Given the description of an element on the screen output the (x, y) to click on. 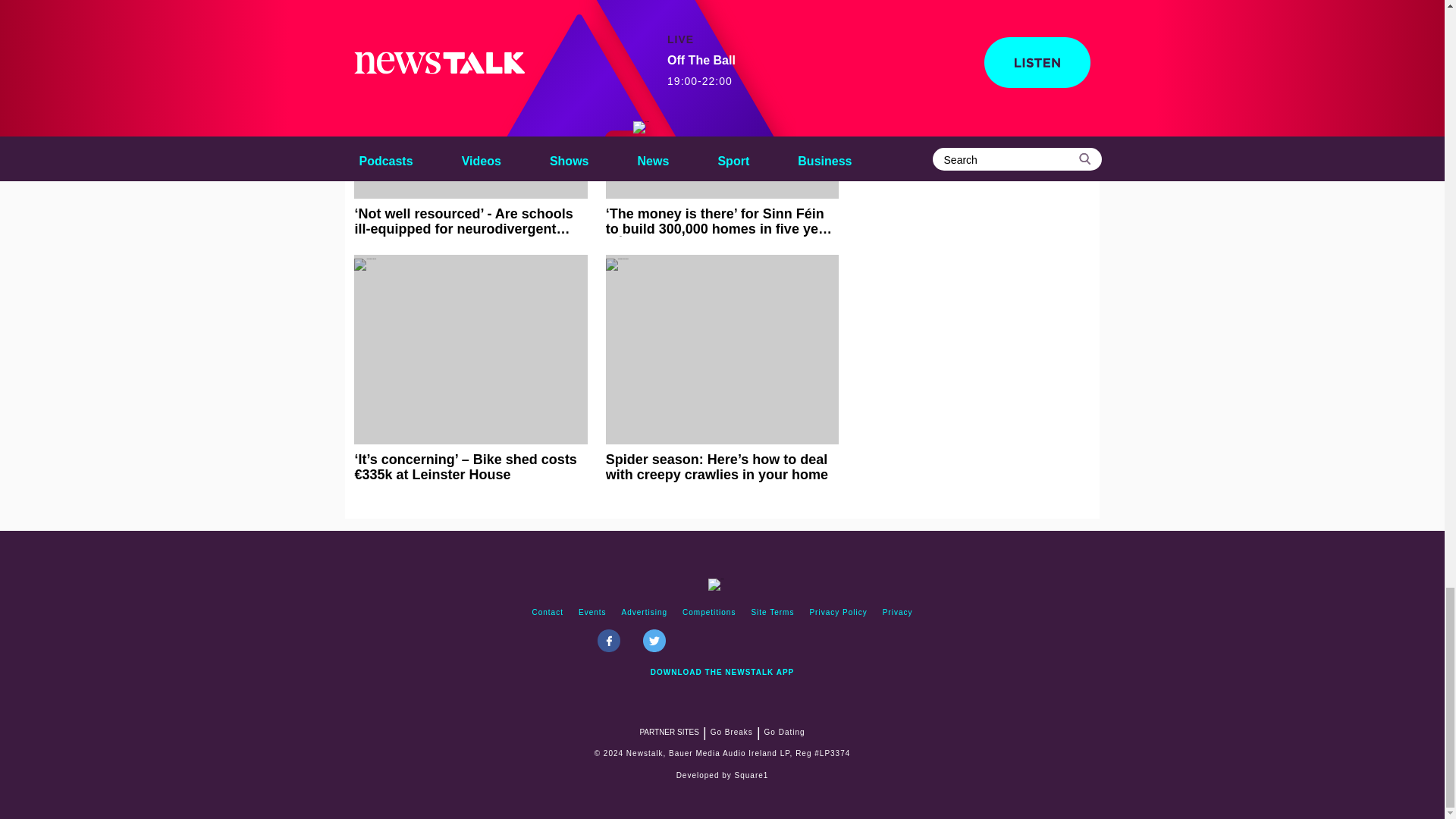
competitions (708, 612)
events (592, 612)
Privacy (897, 612)
Privacy Policy (838, 612)
site terms (772, 612)
advertising (644, 612)
contact (547, 612)
